Given the description of an element on the screen output the (x, y) to click on. 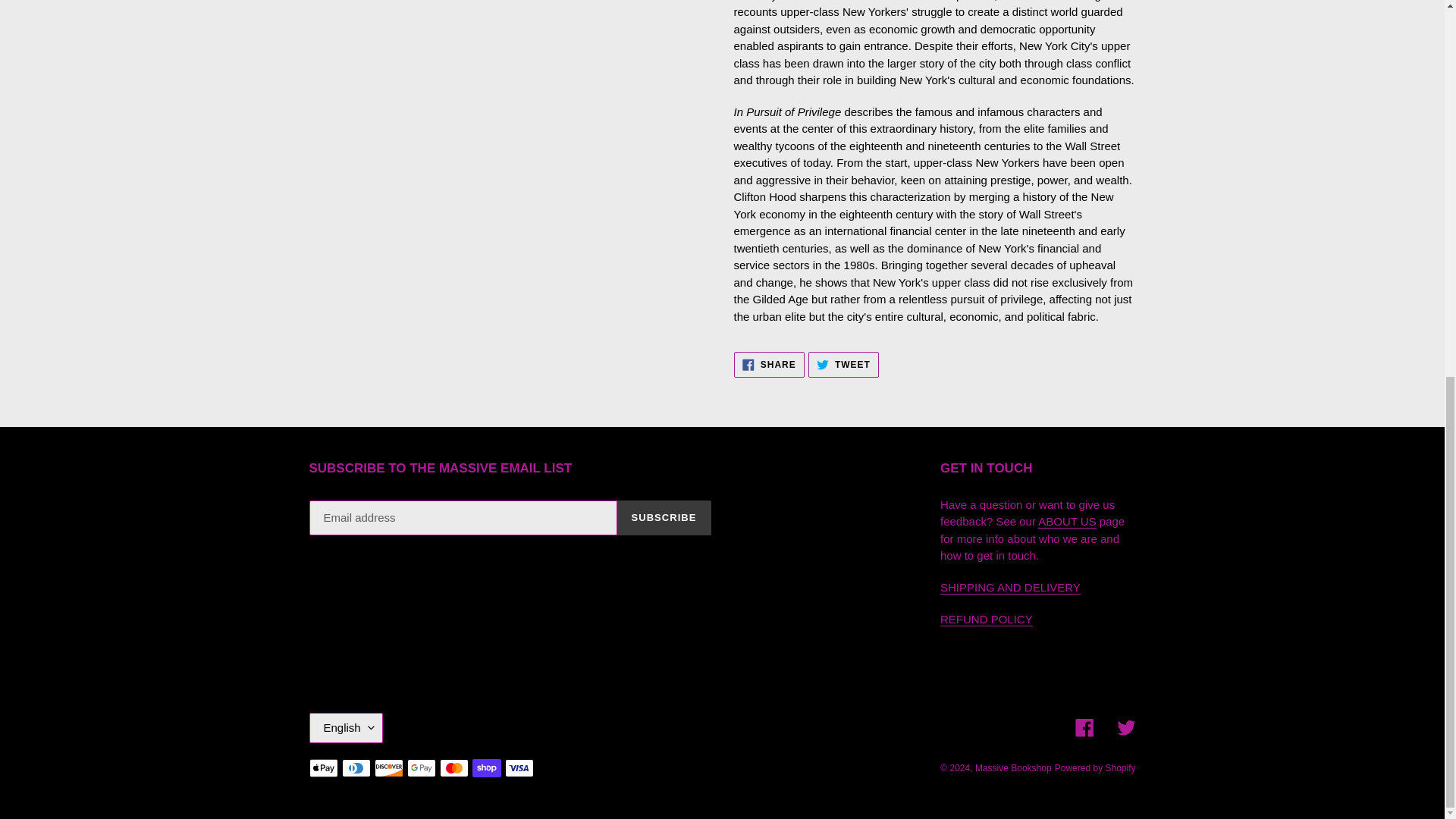
Shipping Policy (1010, 587)
Facebook (1084, 727)
WELCOME TO OUR MASSIVE BOOKSHOP (1067, 521)
REFUND POLICY (986, 619)
SUBSCRIBE (664, 517)
SHIPPING AND DELIVERY (843, 364)
ABOUT US (1010, 587)
English (1067, 521)
Refund Policy (345, 727)
